Given the description of an element on the screen output the (x, y) to click on. 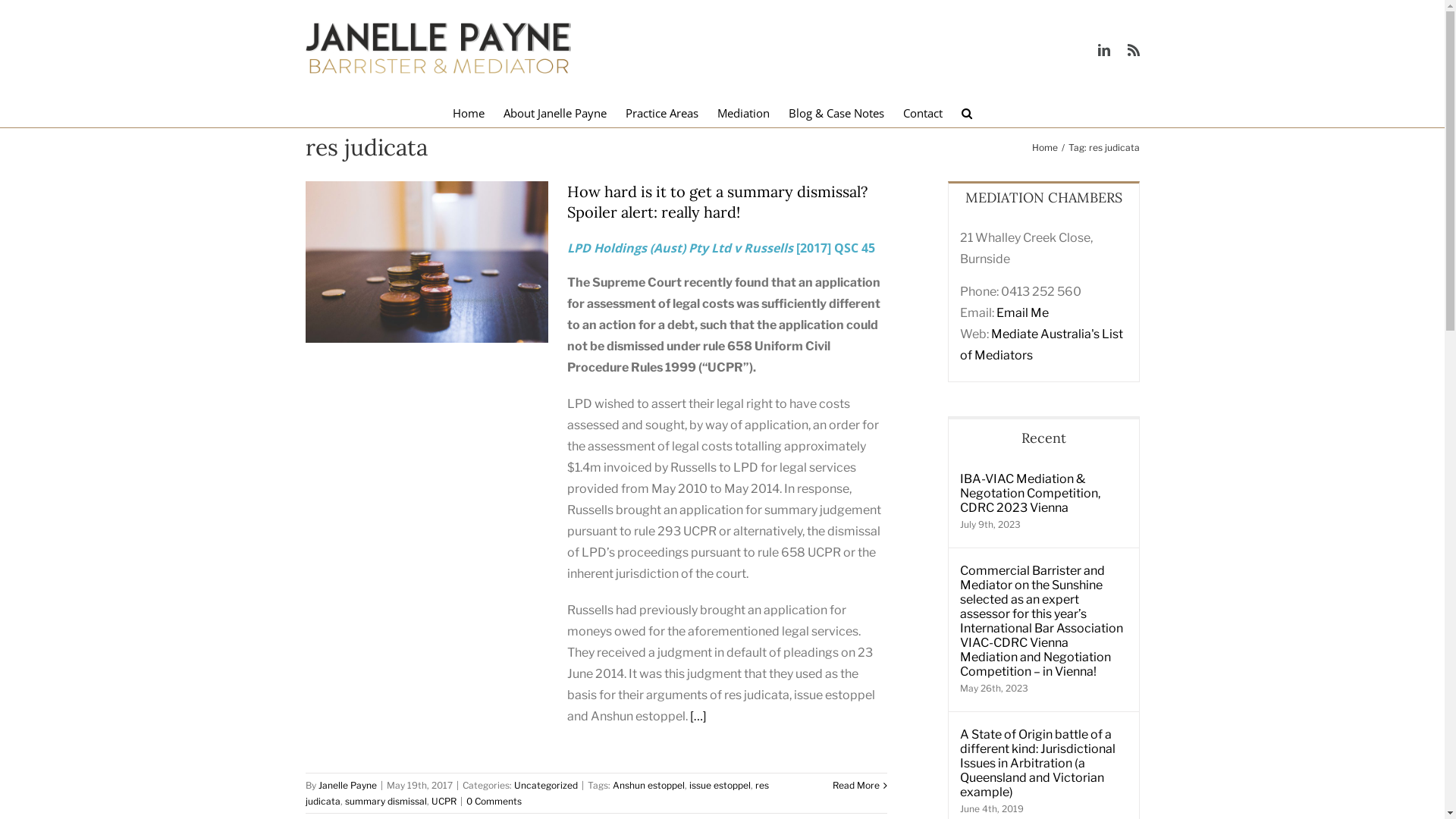
0 Comments Element type: text (492, 800)
Recent Element type: text (1042, 436)
issue estoppel Element type: text (718, 784)
Blog & Case Notes Element type: text (836, 112)
Anshun estoppel Element type: text (648, 784)
Search Element type: hover (966, 112)
Janelle Payne Element type: text (347, 784)
res judicata Element type: text (536, 792)
Home Element type: text (468, 112)
Contact Element type: text (922, 112)
Uncategorized Element type: text (545, 784)
Mediation Element type: text (743, 112)
UCPR Element type: text (442, 800)
Home Element type: text (1044, 146)
Practice Areas Element type: text (661, 112)
Linkedin Element type: text (1104, 49)
summary dismissal Element type: text (385, 800)
Rss Element type: text (1132, 49)
Read More Element type: text (855, 785)
Email Me Element type: text (1022, 312)
About Janelle Payne Element type: text (554, 112)
Mediate Australia's List of Mediators Element type: text (1041, 344)
